Given the description of an element on the screen output the (x, y) to click on. 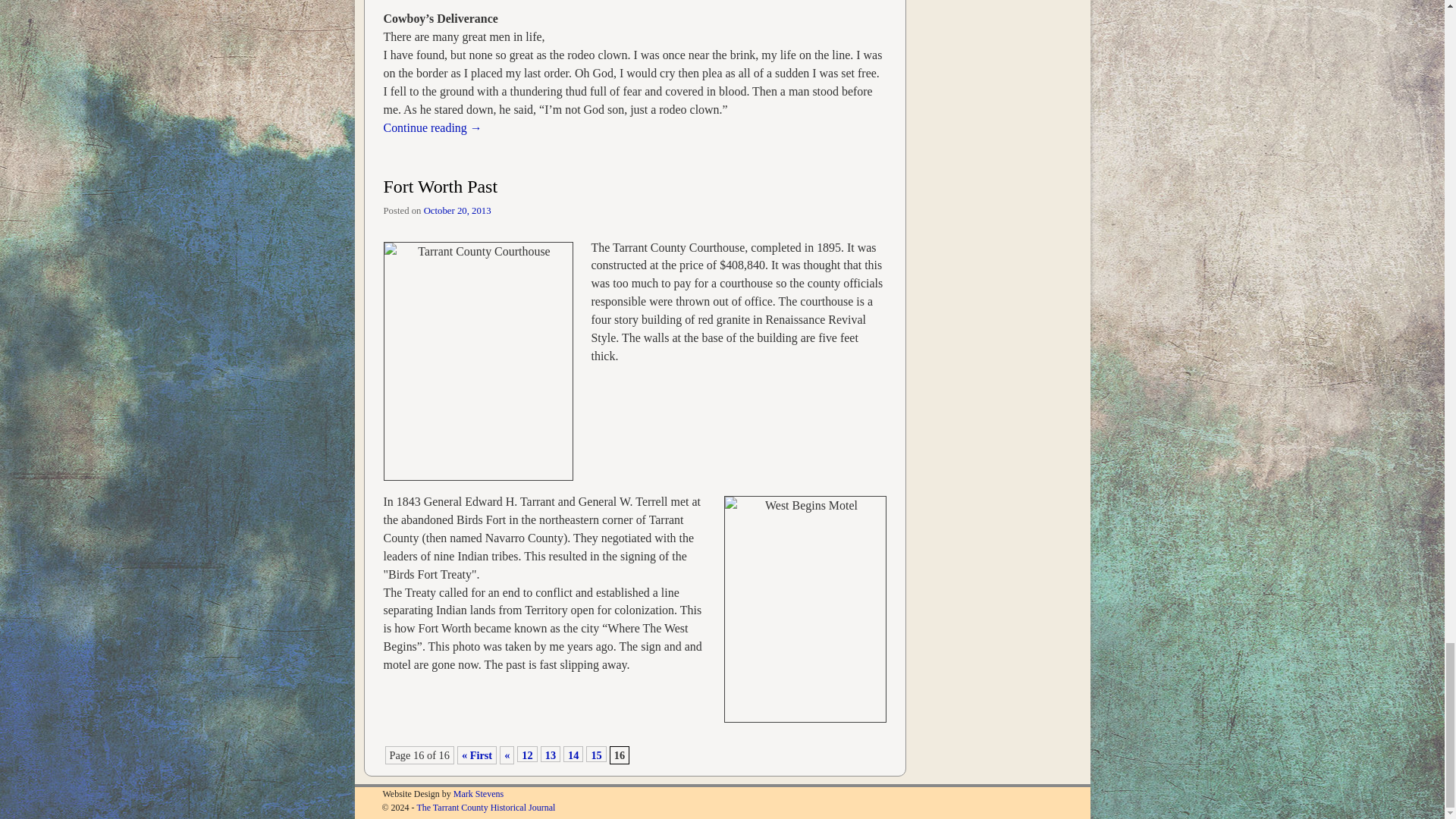
Fort Worth Past (440, 186)
October 20, 2013 (457, 210)
Permalink to Fort Worth Past (440, 186)
14 (573, 754)
12 (526, 754)
15 (595, 754)
13 (550, 754)
The Tarrant County Historical Journal (485, 807)
8:35 pm (457, 210)
